Given the description of an element on the screen output the (x, y) to click on. 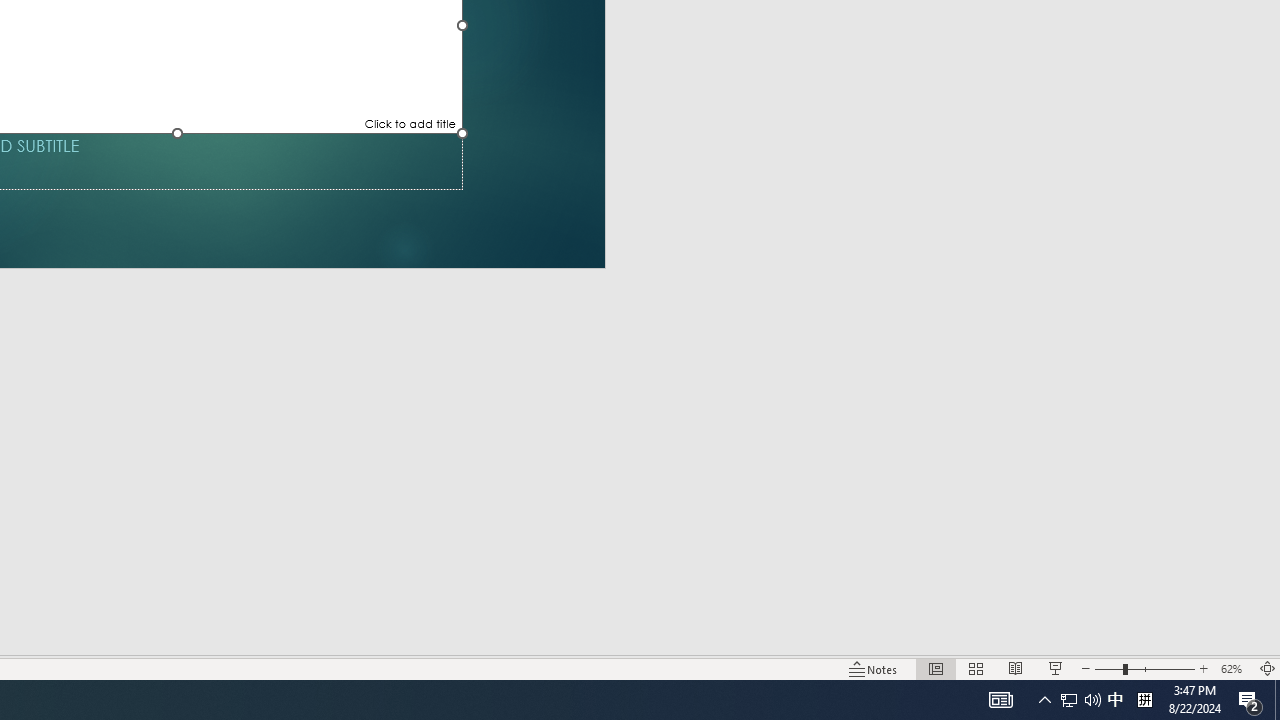
Zoom 62% (1234, 668)
